Given the description of an element on the screen output the (x, y) to click on. 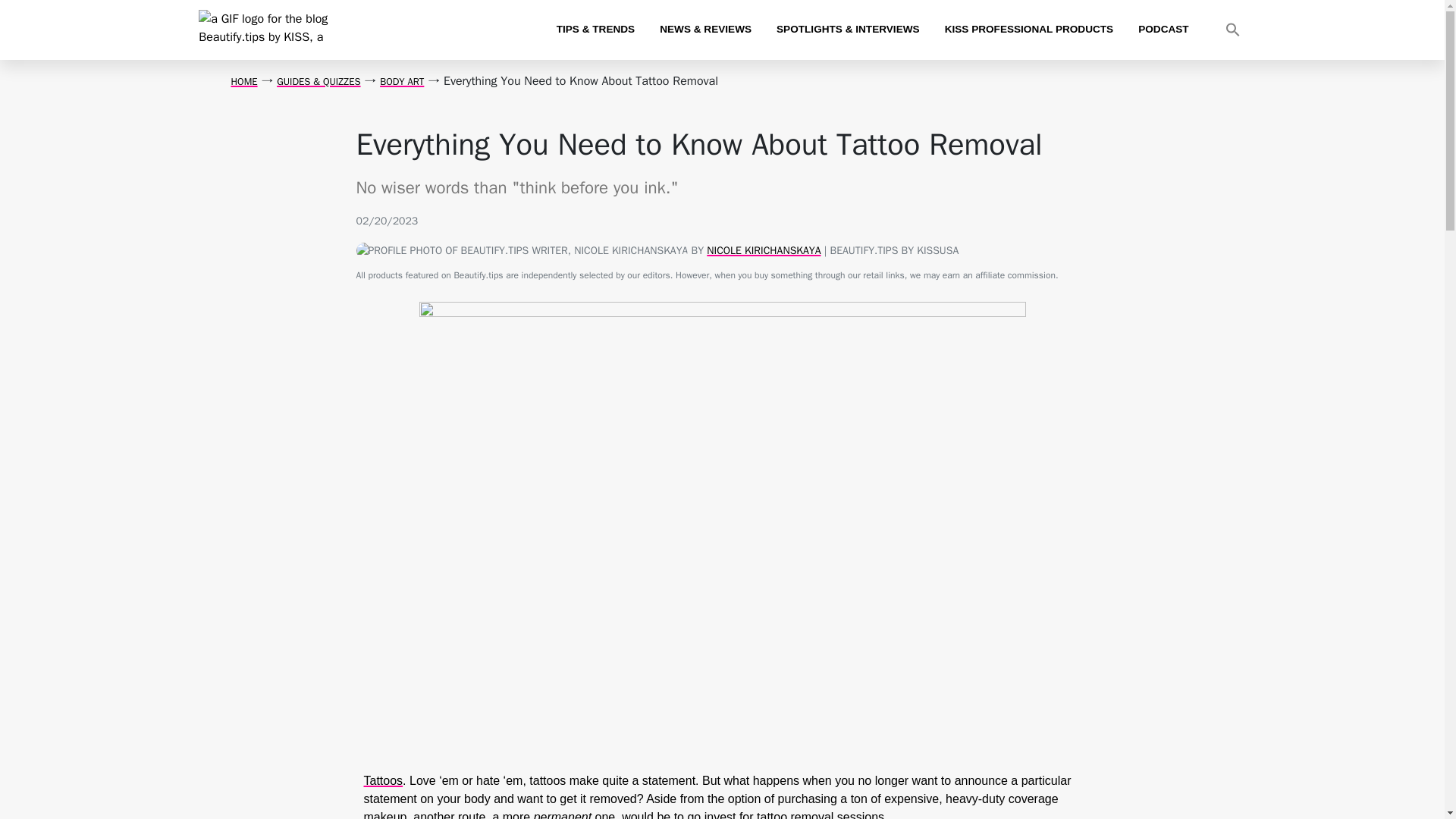
PODCAST (1163, 29)
BODY ART (401, 81)
NICOLE KIRICHANSKAYA (763, 250)
Body Art (401, 81)
HOME (243, 81)
KISS PROFESSIONAL PRODUCTS (1029, 29)
Tattoos (383, 779)
Home (243, 81)
